Given the description of an element on the screen output the (x, y) to click on. 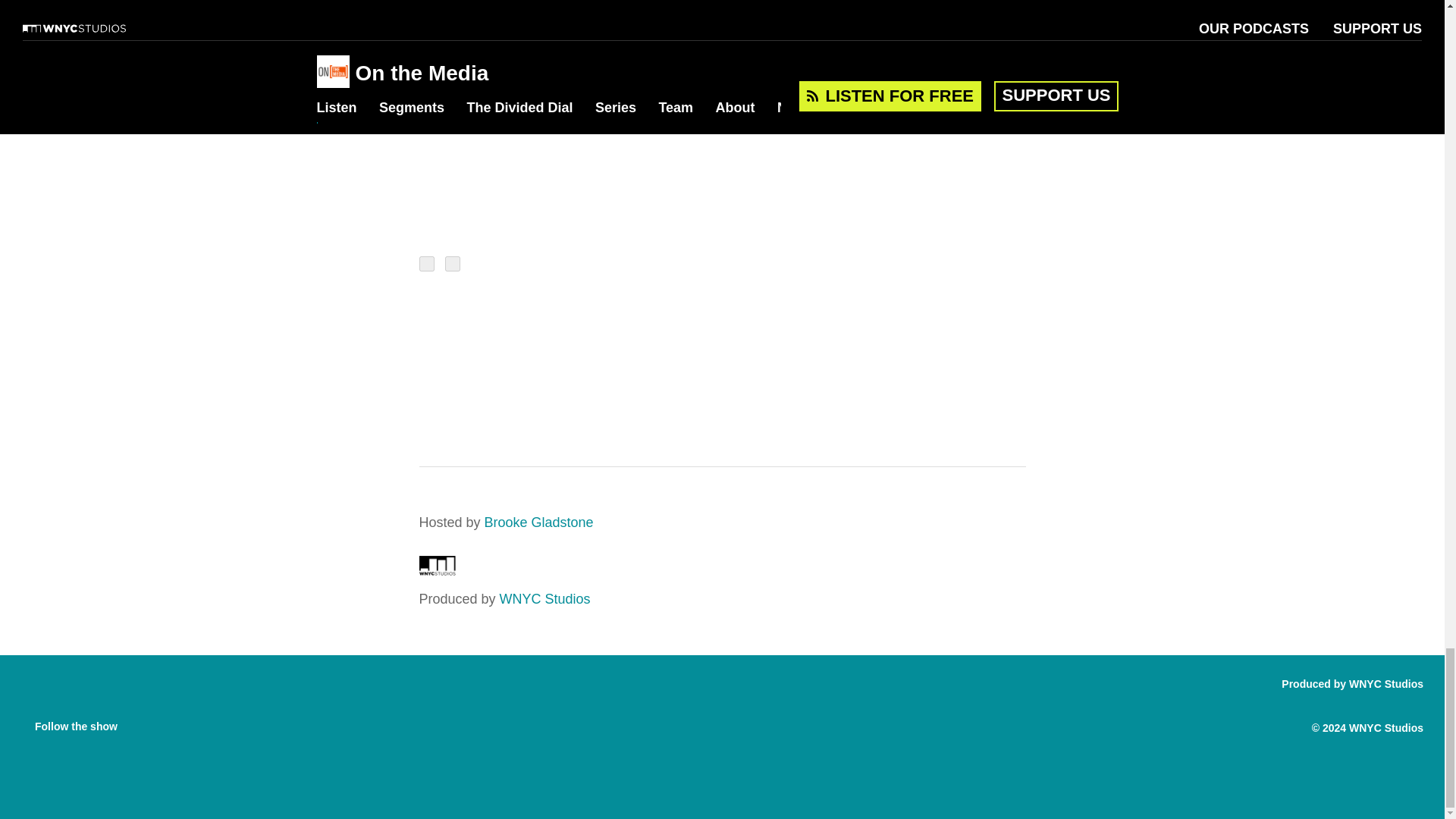
Follow the show on facebook (139, 722)
WNYC Studios (436, 570)
Follow the show on newsletter (198, 722)
Follow the show on twitter (168, 722)
